Given the description of an element on the screen output the (x, y) to click on. 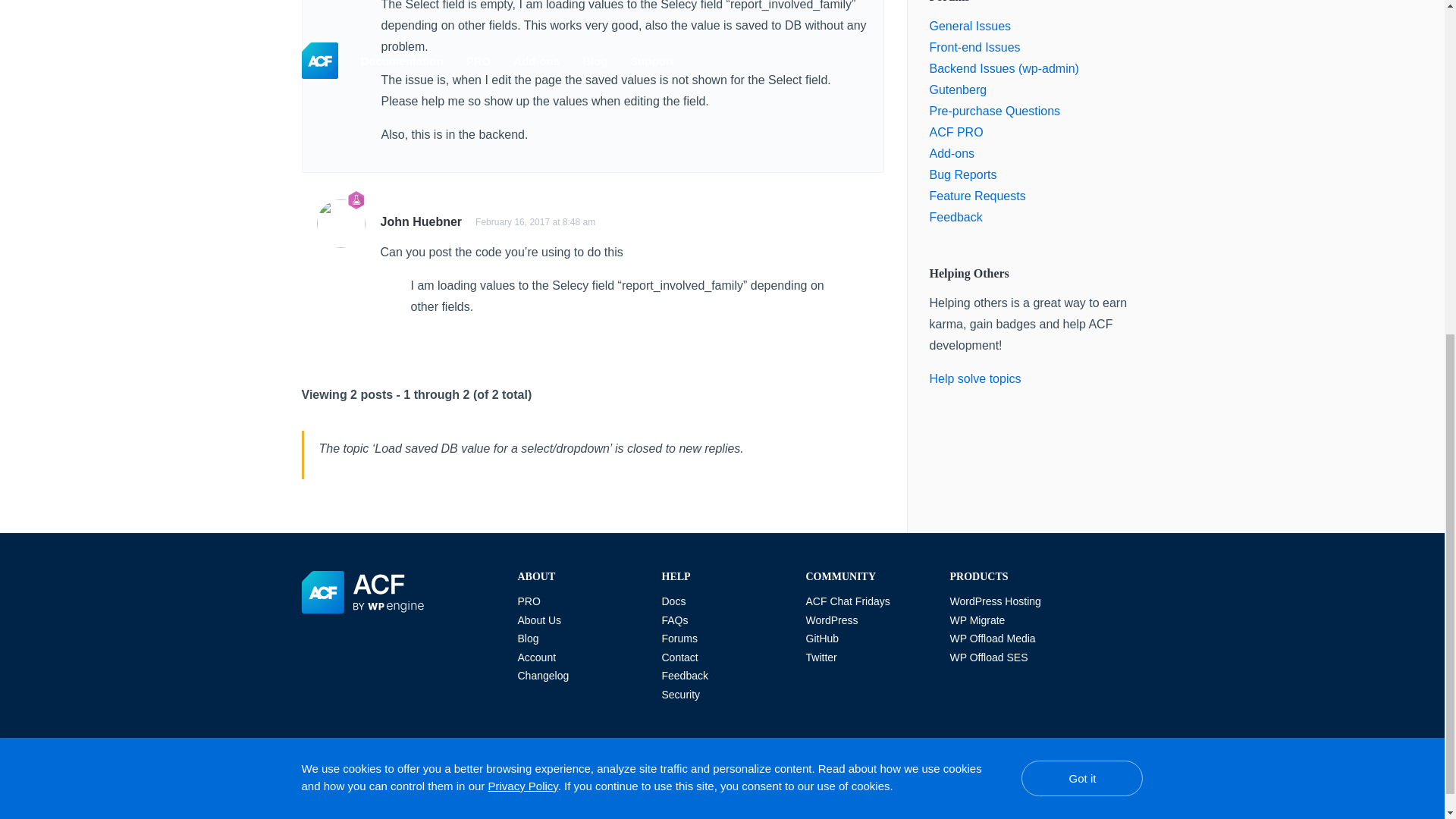
Blog (527, 638)
Front-end Issues (975, 47)
ACF PRO (957, 132)
General Issues (970, 25)
About Us (538, 620)
Help solve topics (976, 378)
Feedback (956, 216)
Account (536, 657)
John Huebner (421, 221)
Guru (356, 199)
